Given the description of an element on the screen output the (x, y) to click on. 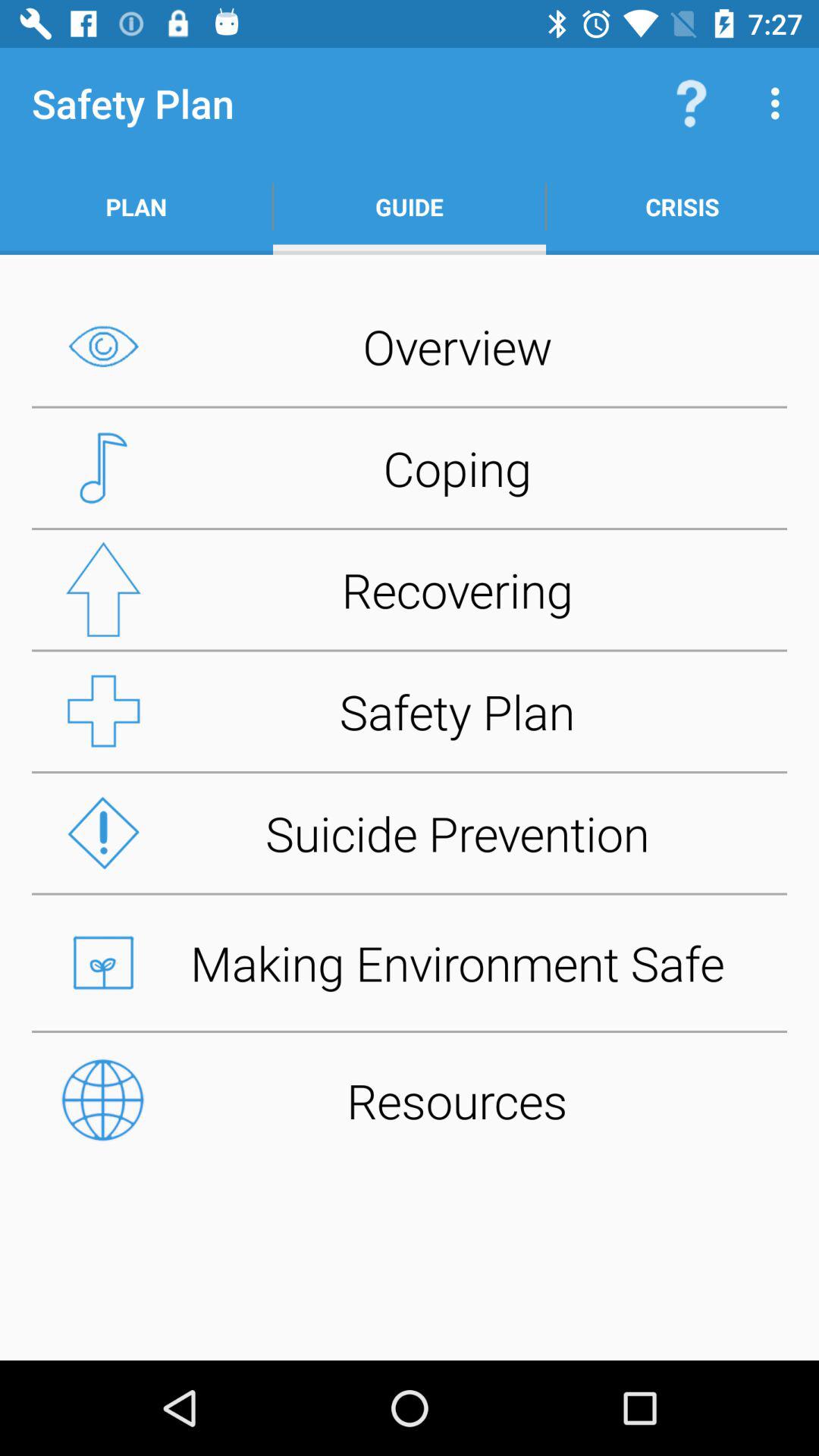
scroll until the overview (409, 346)
